Given the description of an element on the screen output the (x, y) to click on. 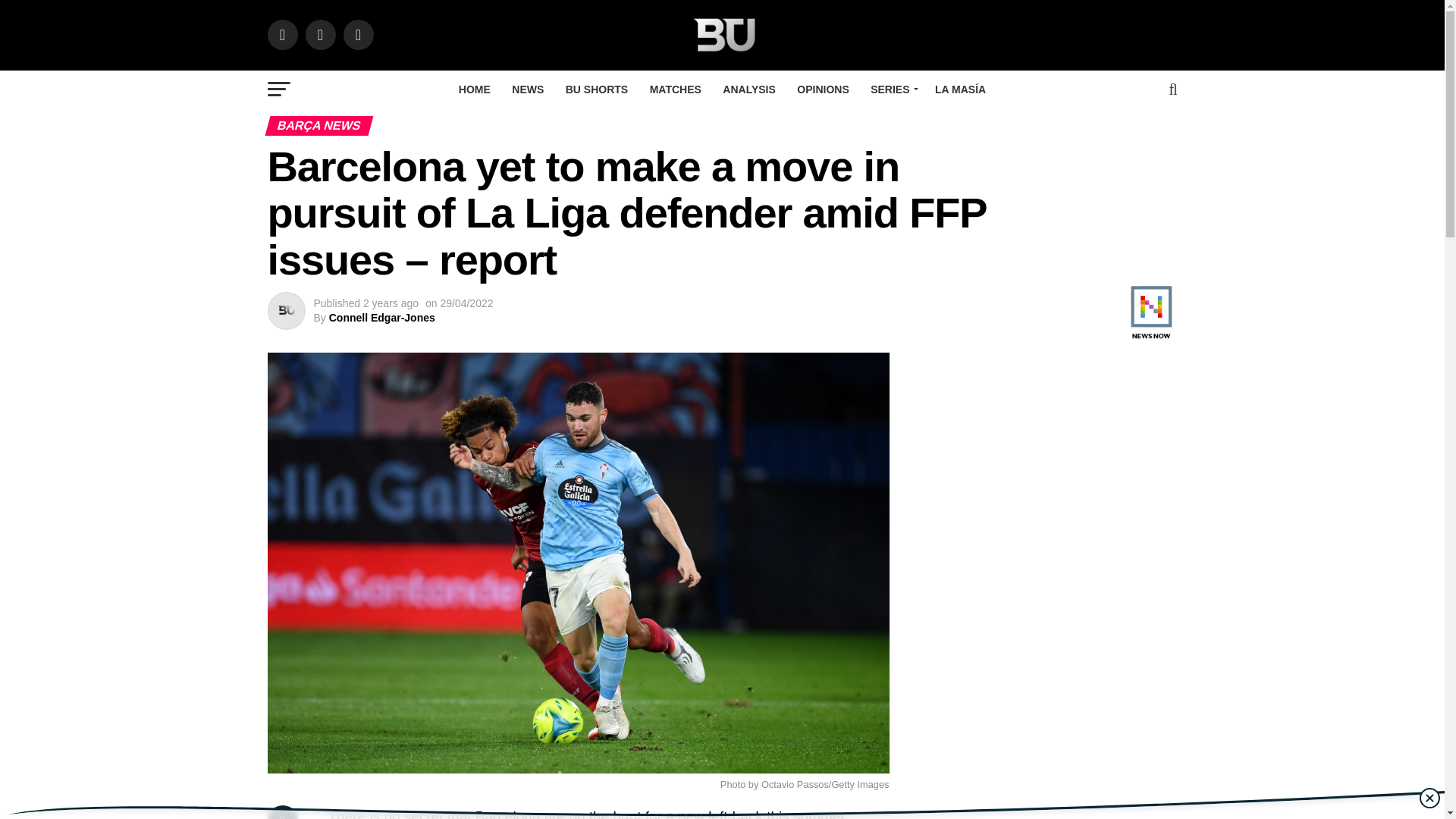
HOME (474, 89)
NEWS (527, 89)
BU SHORTS (596, 89)
Posts by Connell Edgar-Jones (382, 317)
